Given the description of an element on the screen output the (x, y) to click on. 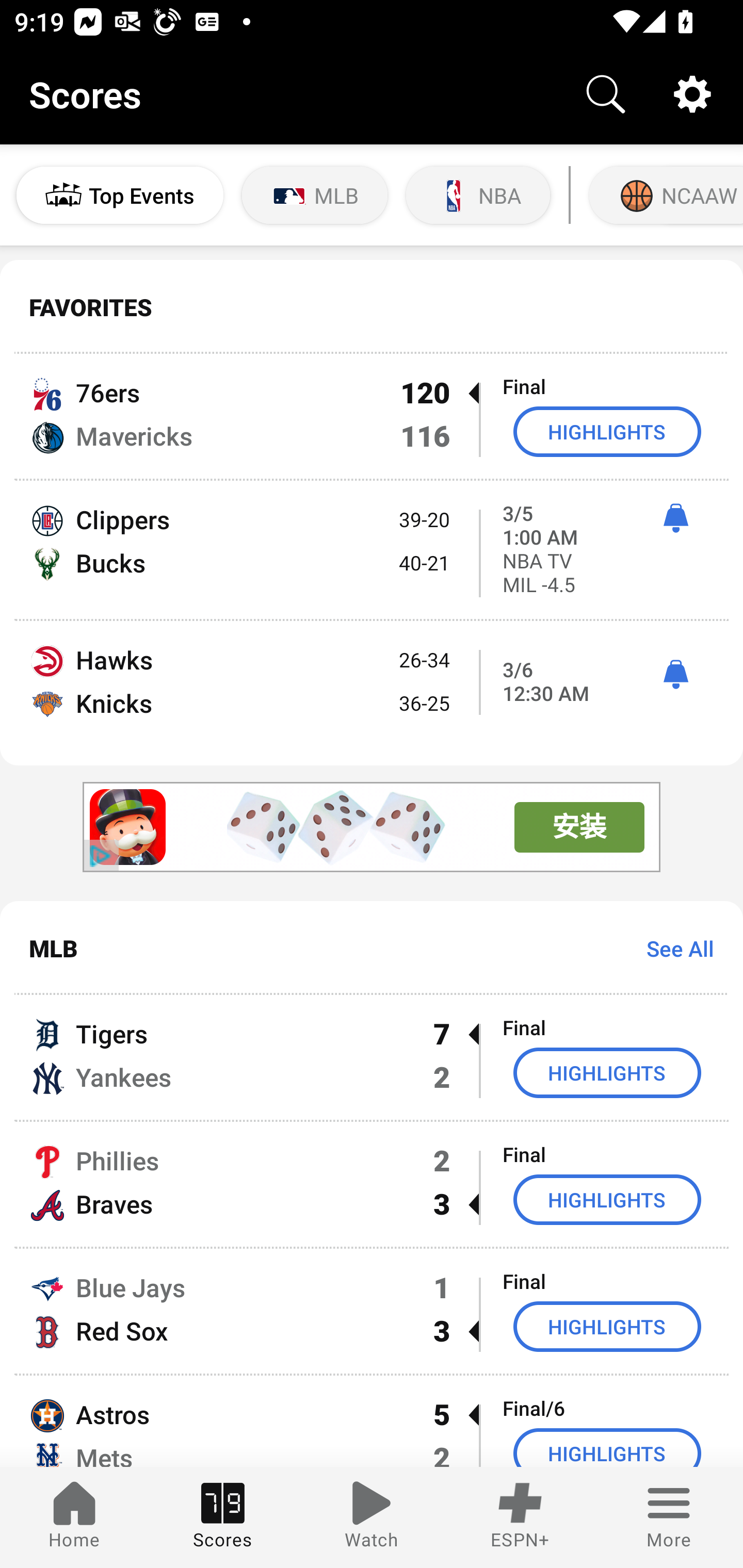
Search (605, 93)
Settings (692, 93)
 Top Events (119, 194)
MLB (314, 194)
NBA (477, 194)
NCAAW (664, 194)
FAVORITES (371, 307)
76ers 120  Final Mavericks 116 HIGHLIGHTS (371, 416)
HIGHLIGHTS (607, 431)
ì (675, 517)
Hawks 26-34 Knicks 36-25 3/6 12:30 AM ì (371, 692)
ì (675, 674)
90ddee7bfe49407238cd (128, 827)
安装 (578, 826)
MLB See All (371, 948)
See All (673, 947)
Tigers 7  Final Yankees 2 HIGHLIGHTS (371, 1057)
HIGHLIGHTS (607, 1072)
Phillies 2 Final Braves 3  HIGHLIGHTS (371, 1183)
HIGHLIGHTS (607, 1199)
Blue Jays 1 Final Red Sox 3  HIGHLIGHTS (371, 1310)
HIGHLIGHTS (607, 1326)
Astros 5  Final/6 Mets 2 HIGHLIGHTS (371, 1421)
HIGHLIGHTS (607, 1447)
Home (74, 1517)
Watch (371, 1517)
ESPN+ (519, 1517)
More (668, 1517)
